Given the description of an element on the screen output the (x, y) to click on. 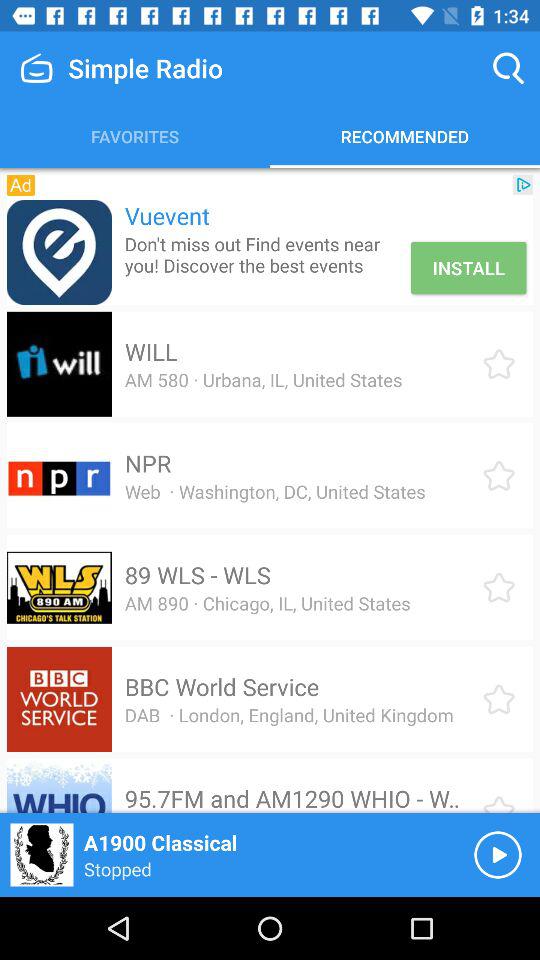
turn off icon above the am 580 urbana (150, 351)
